Given the description of an element on the screen output the (x, y) to click on. 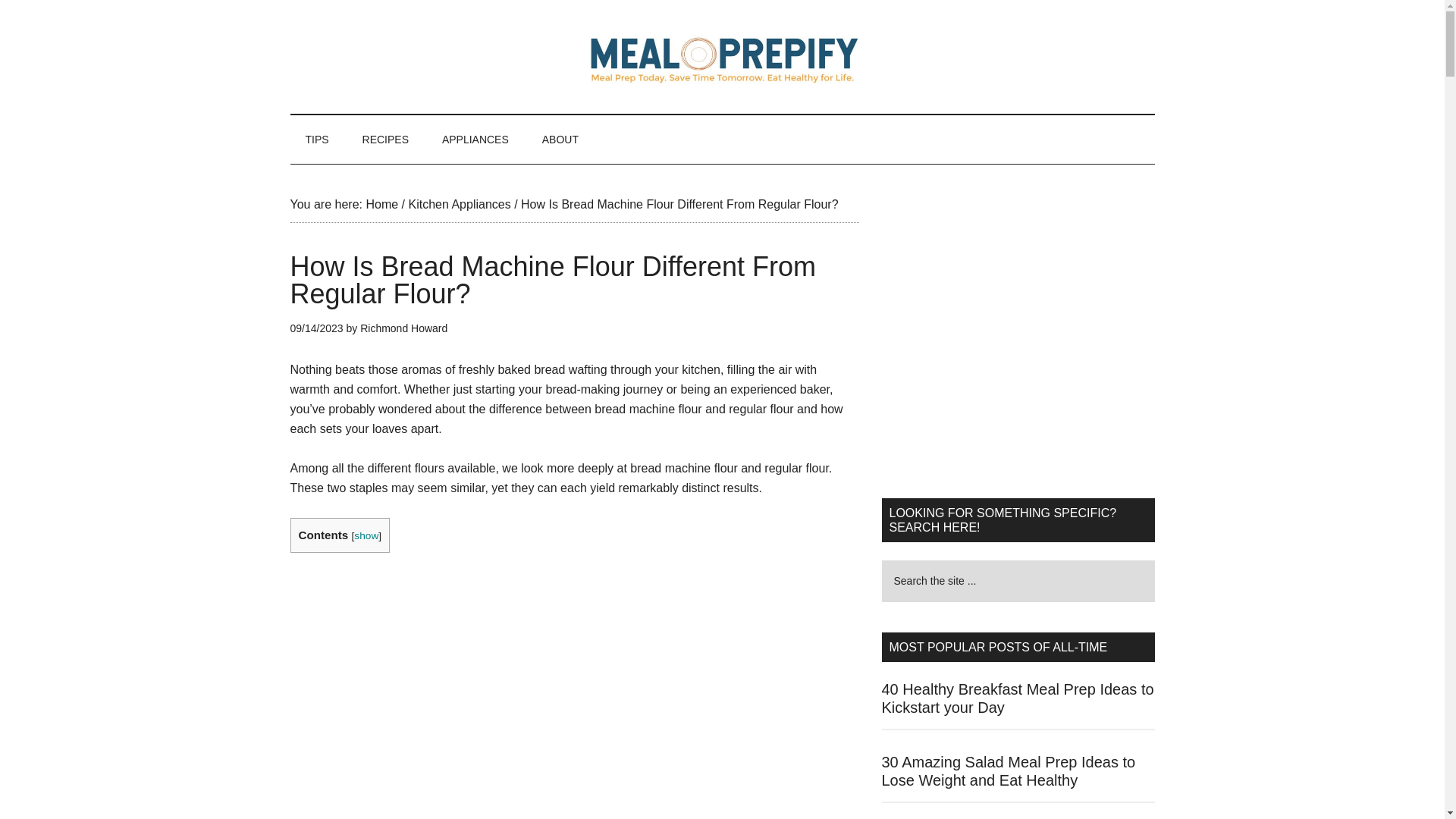
APPLIANCES (475, 139)
ABOUT (560, 139)
Home (381, 204)
TIPS (316, 139)
Richmond Howard (402, 328)
Kitchen Appliances (459, 204)
Meal Prepify (721, 56)
